Given the description of an element on the screen output the (x, y) to click on. 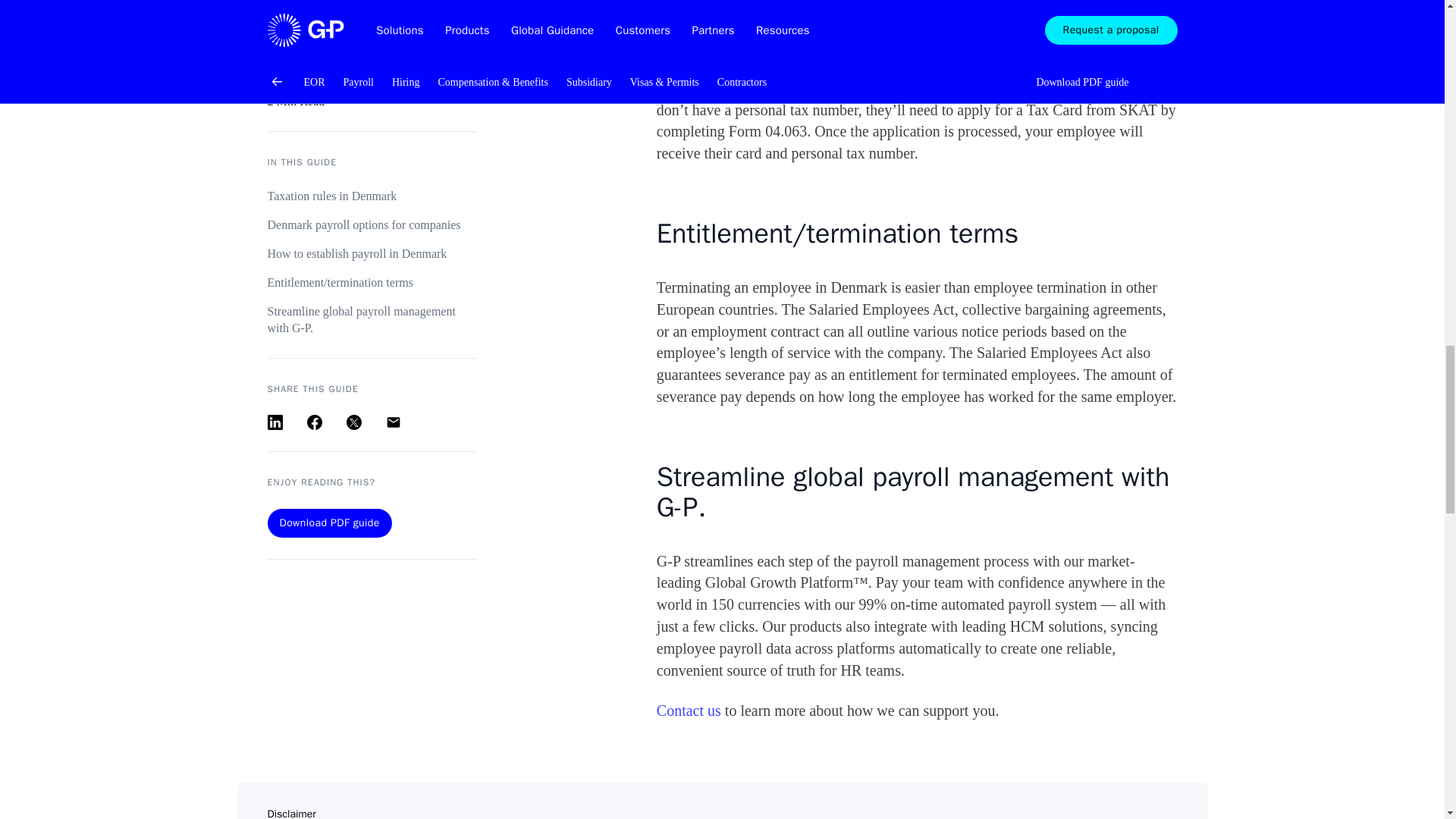
Contact us (688, 710)
